Given the description of an element on the screen output the (x, y) to click on. 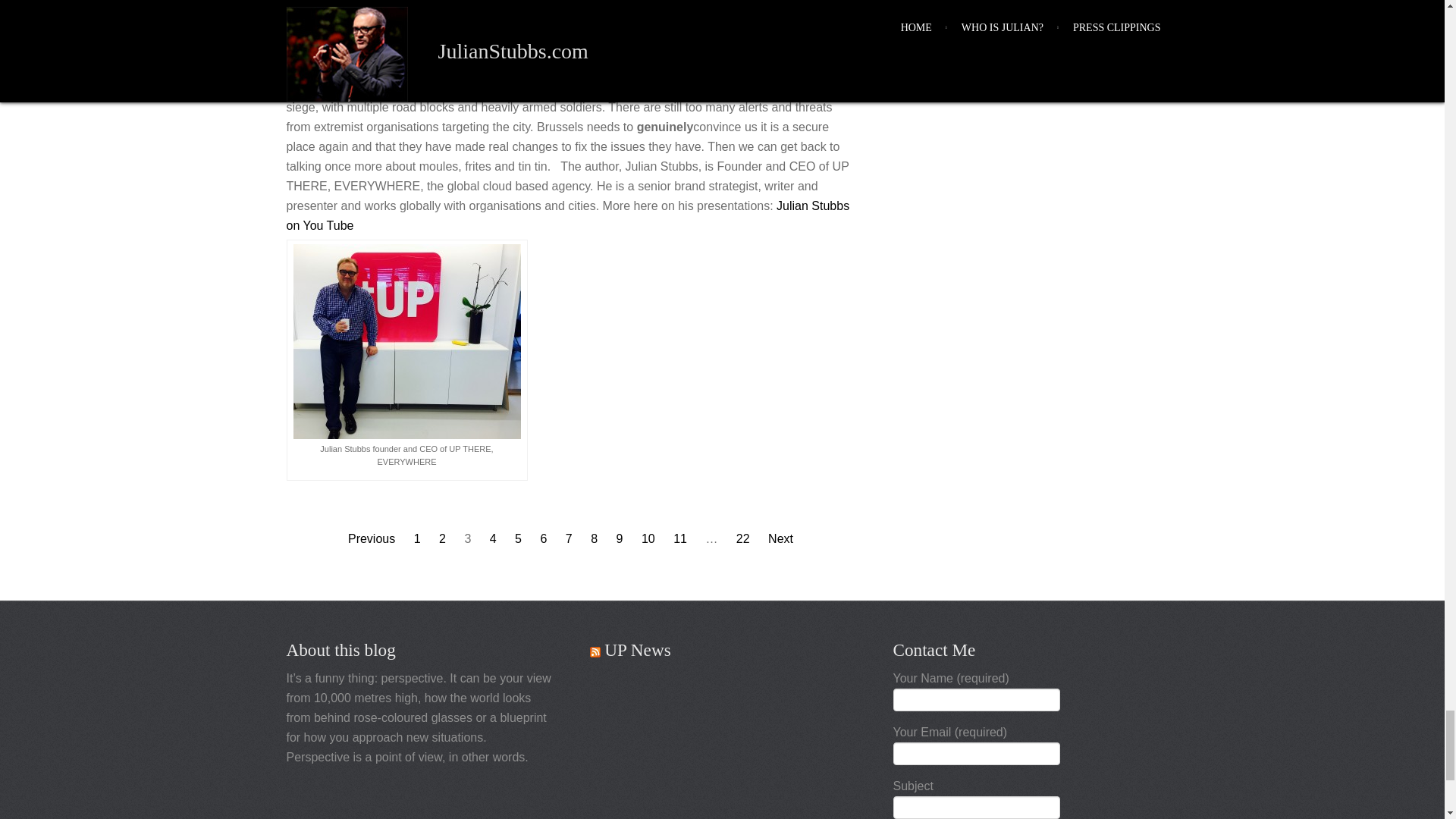
7 (569, 538)
Julian Stubbs on You Tube (568, 215)
8 (593, 538)
10 (648, 538)
4 (492, 538)
5 (518, 538)
2 (442, 538)
1 (416, 538)
6 (543, 538)
9 (619, 538)
Previous (370, 538)
